Given the description of an element on the screen output the (x, y) to click on. 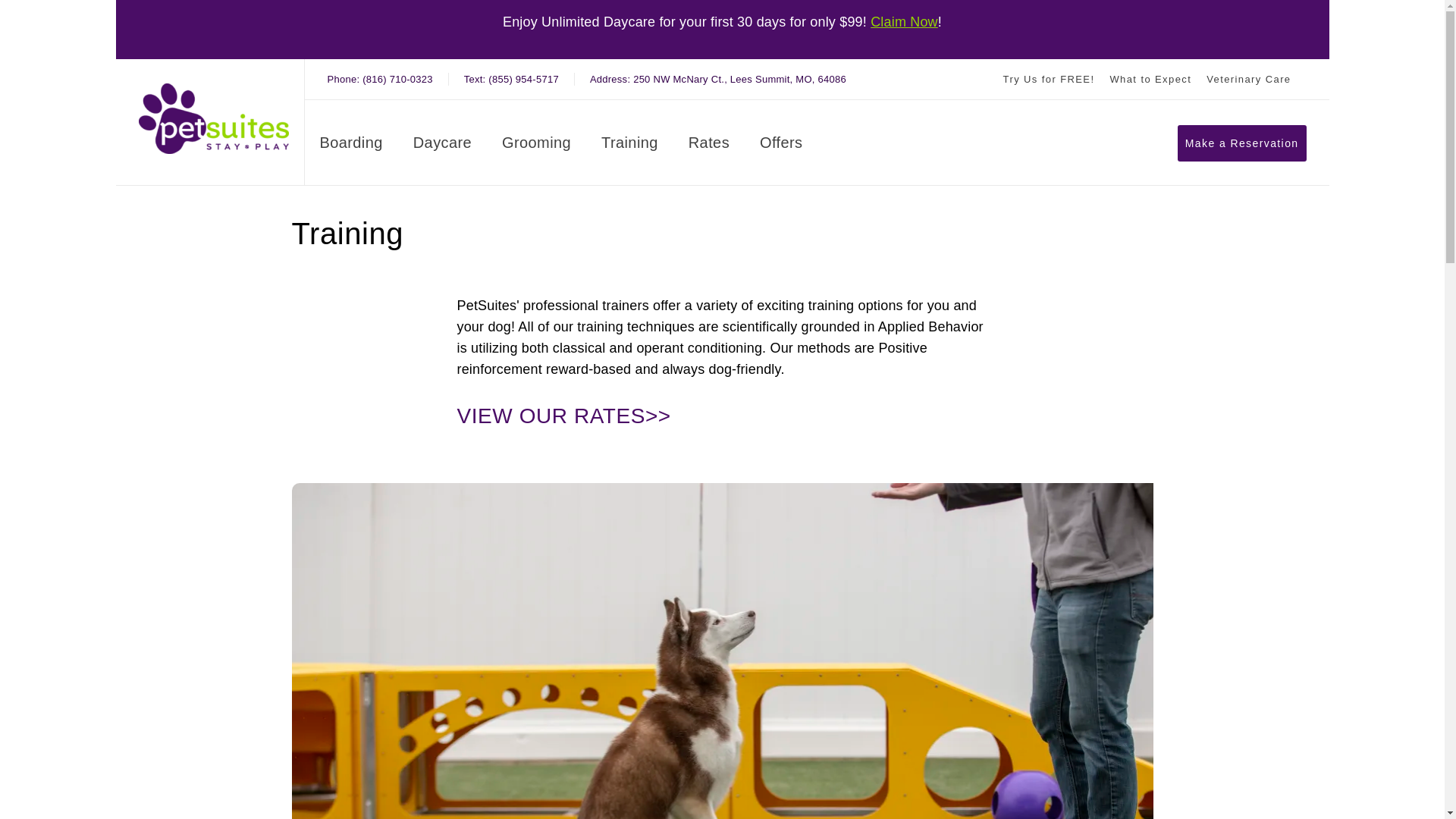
Grooming (717, 78)
Address: 250 NW McNary Ct., Lees Summit, MO, 64086 (536, 145)
Claim Now (717, 78)
Boarding (903, 21)
Try Us for FREE! (351, 145)
Make a Reservation (1048, 78)
Daycare (1241, 142)
Claim Now (442, 145)
Logo (903, 21)
Veterinary Care (213, 118)
Try Us for FREE! (1248, 78)
Veterinary Care (1048, 78)
Rates (1248, 78)
Daycare (708, 145)
